Given the description of an element on the screen output the (x, y) to click on. 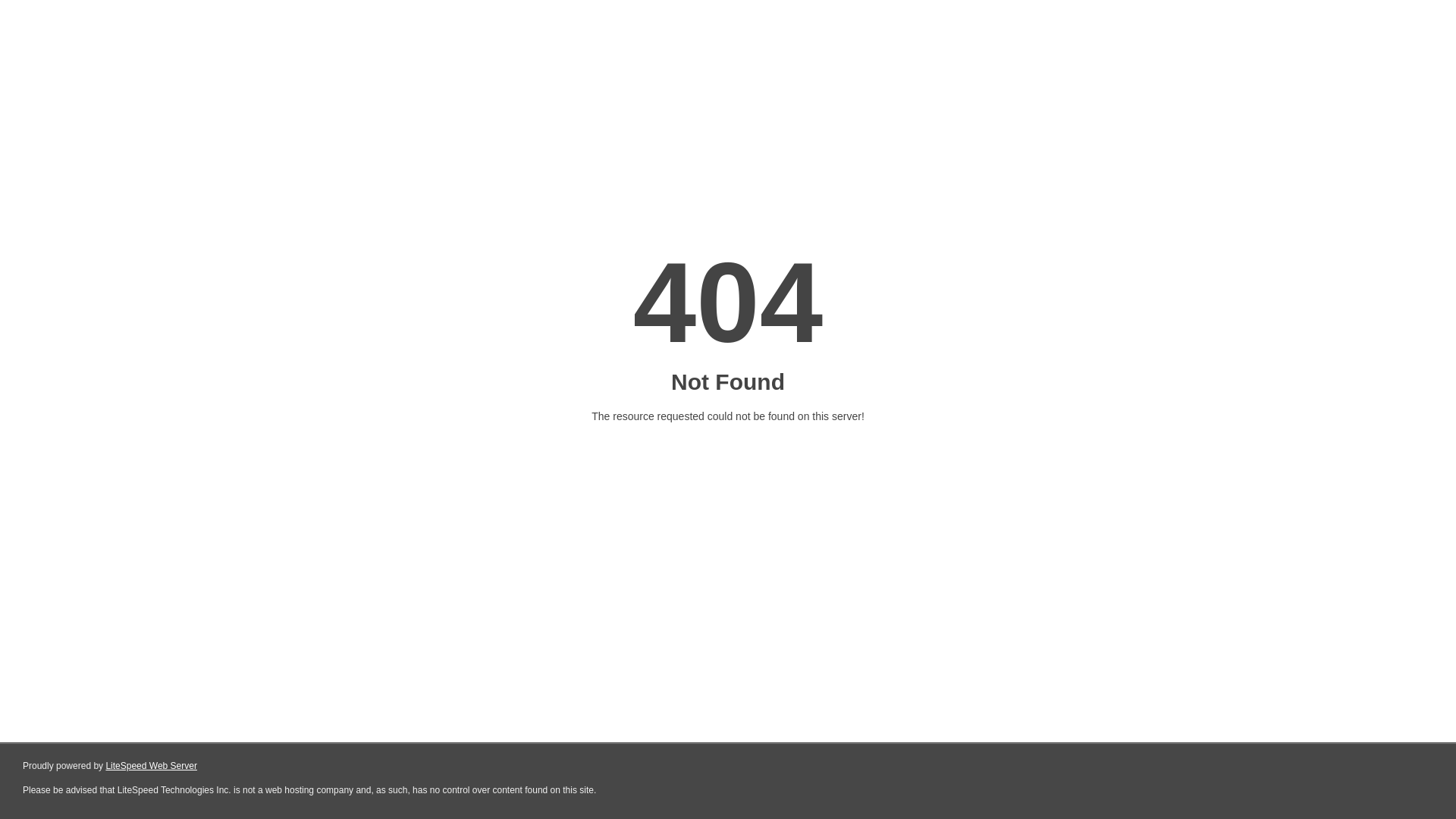
LiteSpeed Web Server Element type: text (151, 765)
